Given the description of an element on the screen output the (x, y) to click on. 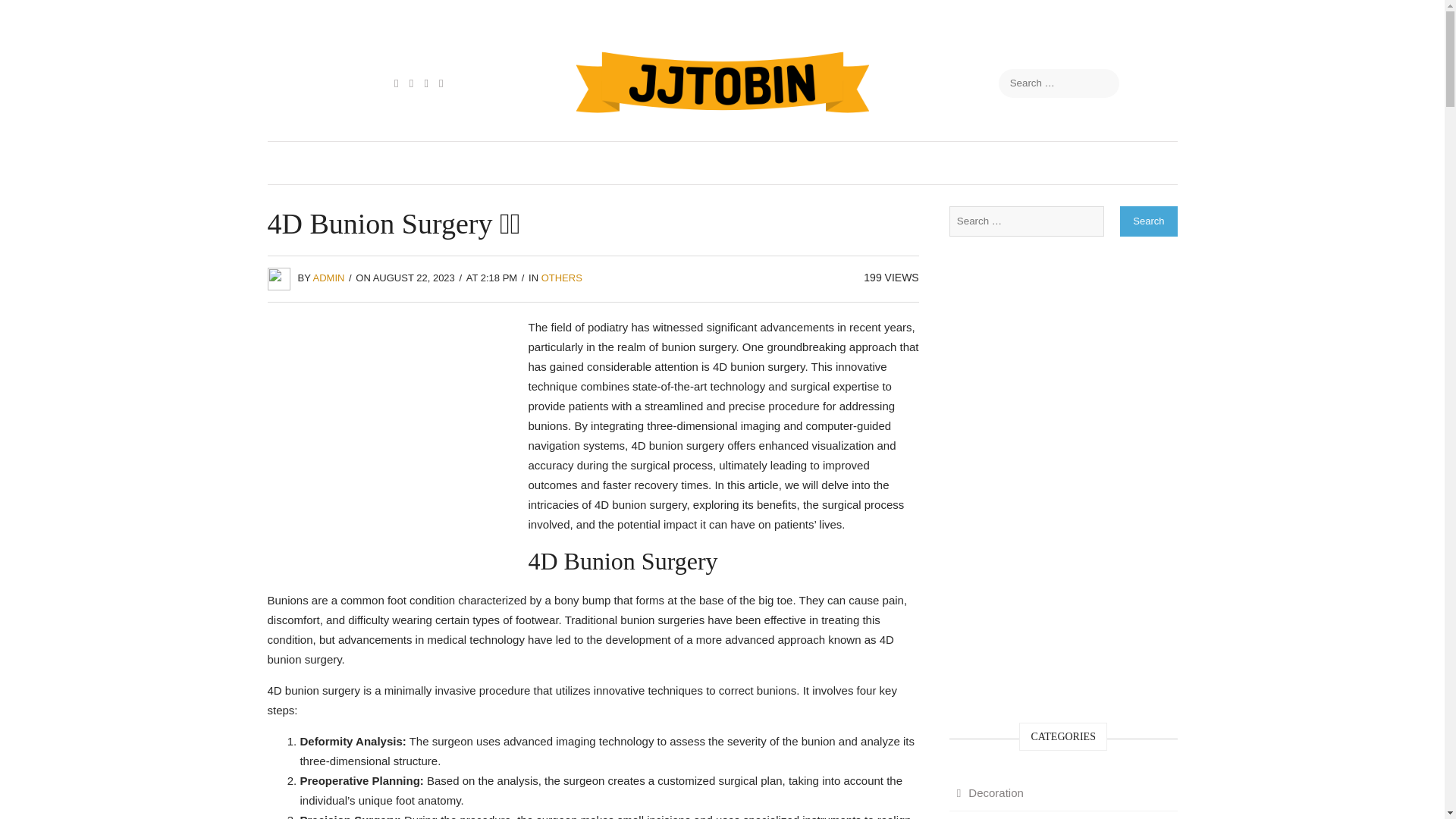
DECORATION (540, 162)
ADMIN (329, 277)
ONLINE (1009, 162)
FOOD (452, 162)
GAME (697, 162)
LIFESTYLE (852, 162)
Education (987, 815)
Search (28, 15)
Search (1147, 221)
OTHERS (561, 277)
